Given the description of an element on the screen output the (x, y) to click on. 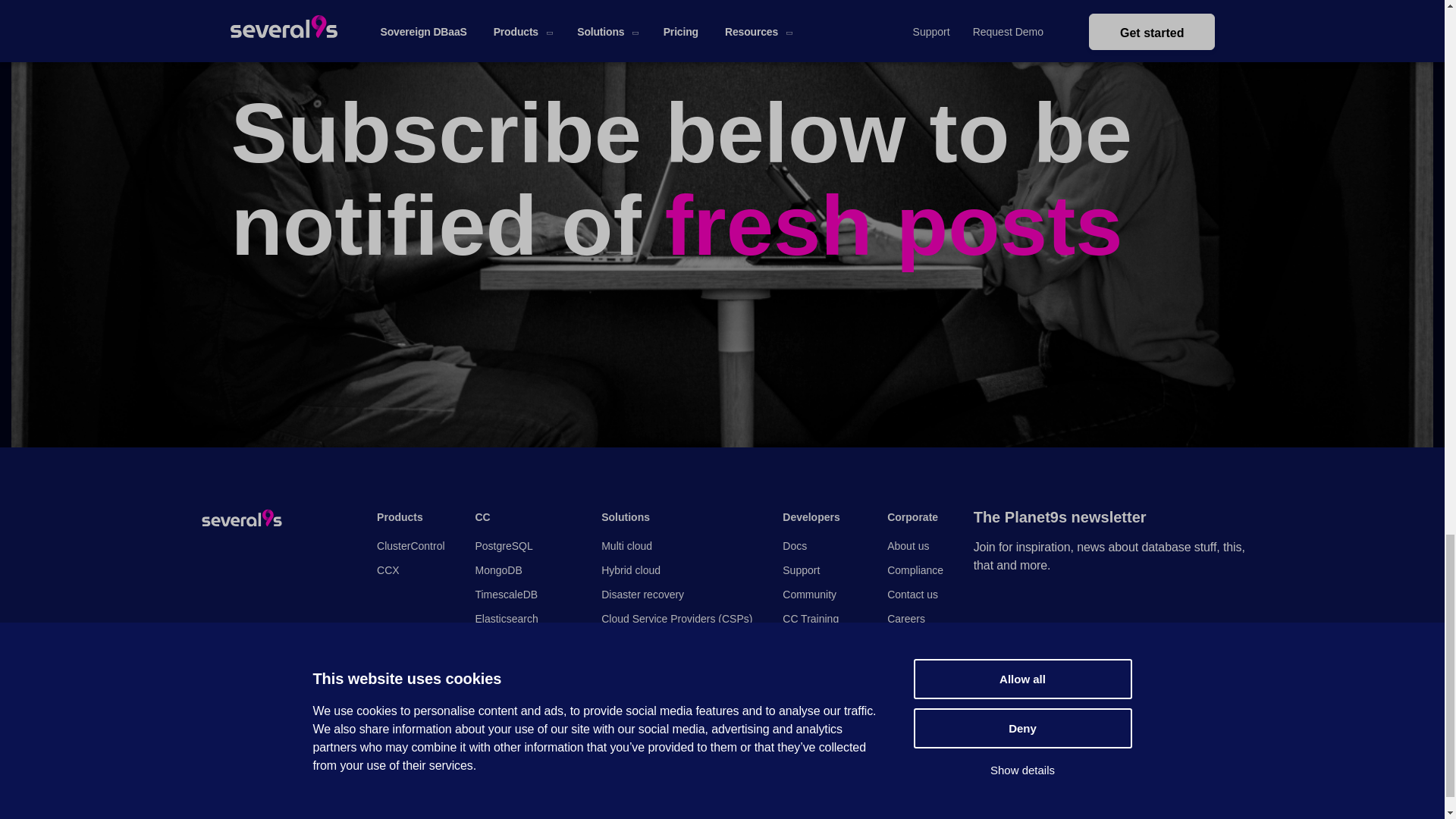
Subscribe (1030, 714)
